Given the description of an element on the screen output the (x, y) to click on. 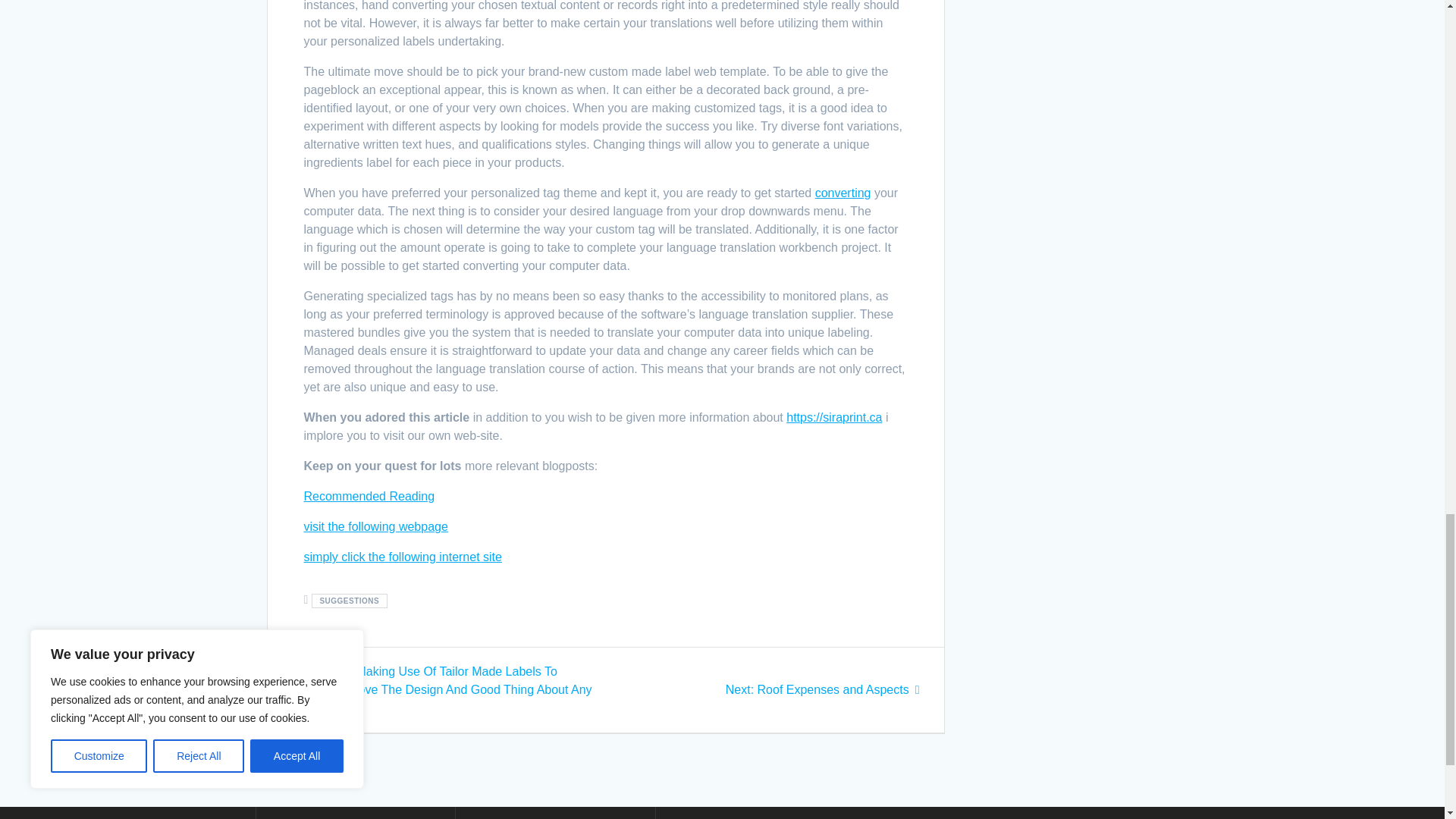
Recommended Reading (367, 495)
visit the following webpage (374, 526)
converting (842, 192)
simply click the following internet site (401, 556)
SUGGESTIONS (349, 600)
